Given the description of an element on the screen output the (x, y) to click on. 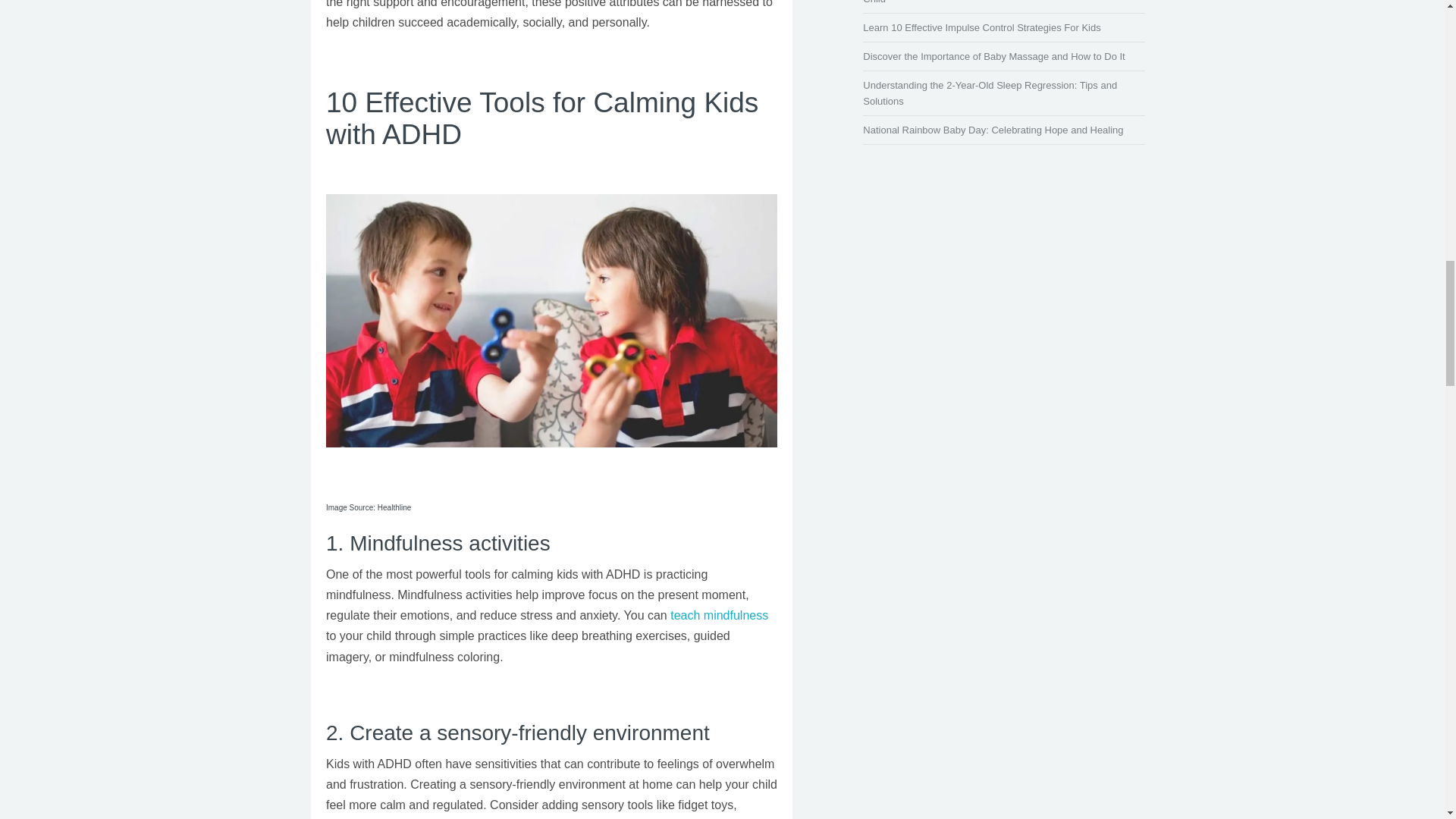
teach mindfulness (718, 615)
